Given the description of an element on the screen output the (x, y) to click on. 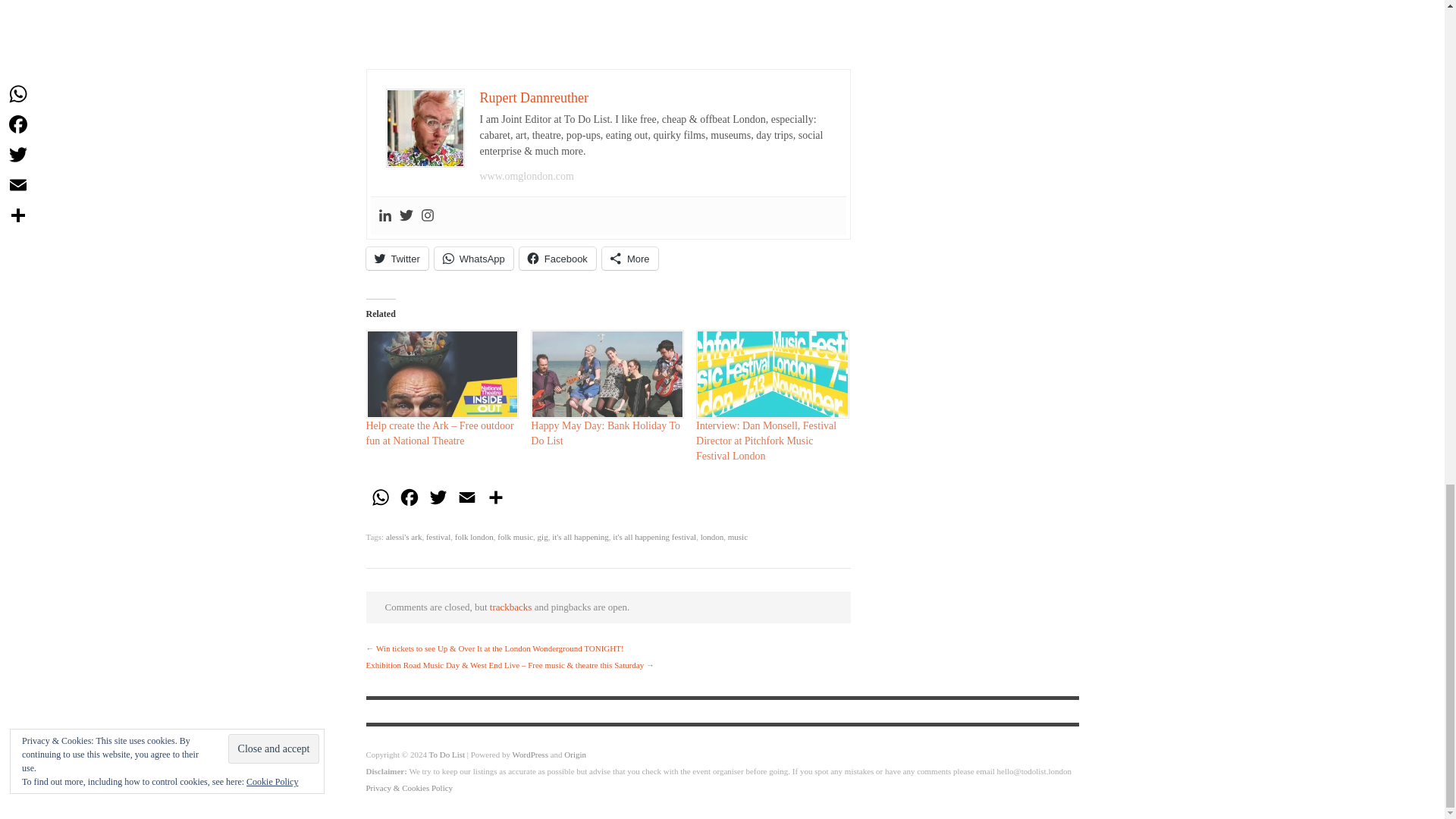
www.omglondon.com (526, 175)
WhatsApp (379, 501)
Click to share on Twitter (396, 258)
Rupert Dannreuther (533, 97)
Facebook (557, 258)
Twitter (405, 215)
Linkedin (384, 215)
Twitter (396, 258)
Instagram (426, 215)
